Given the description of an element on the screen output the (x, y) to click on. 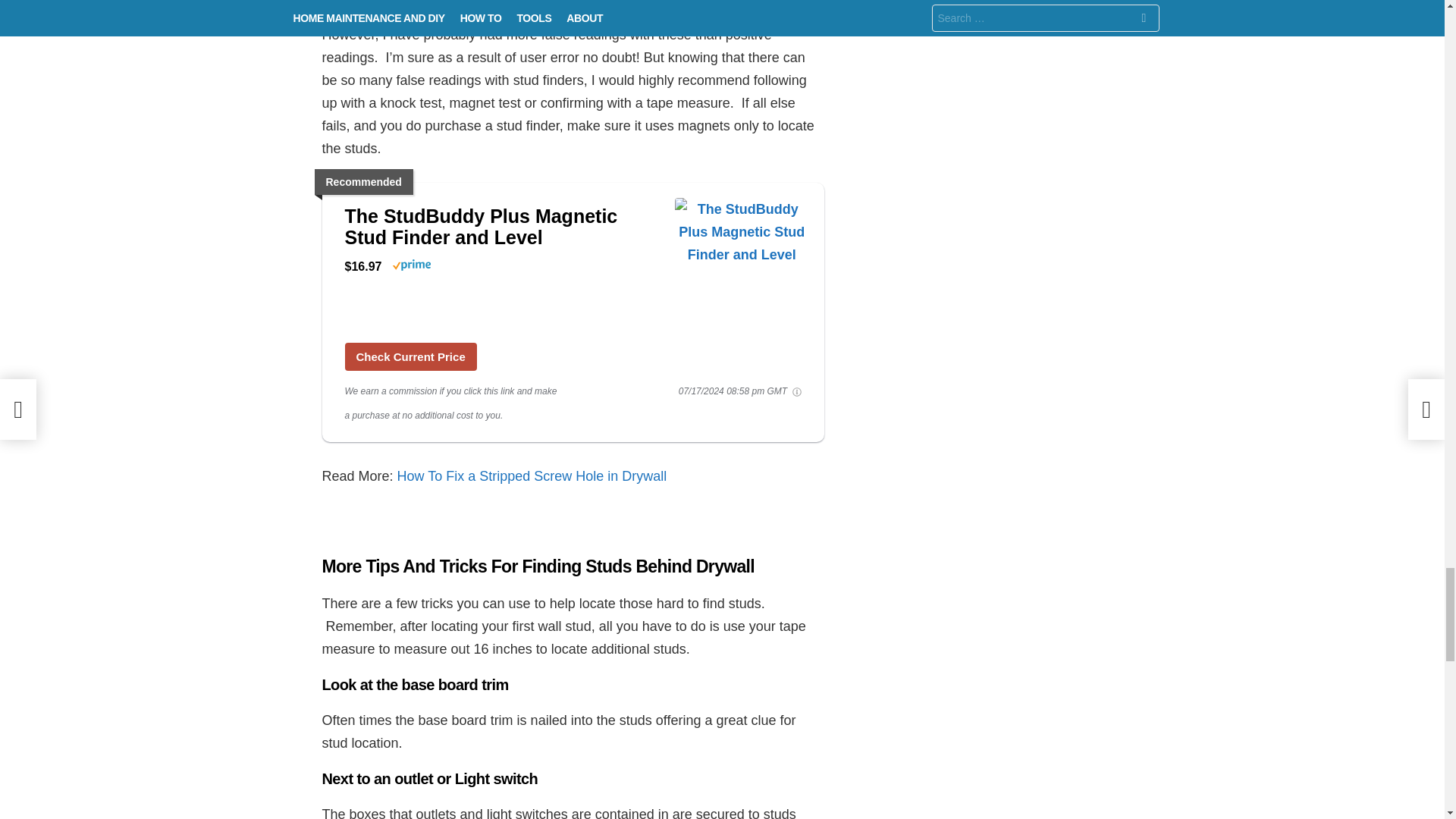
How To Fix a Stripped Screw Hole in Drywall (529, 476)
Check Current Price (409, 357)
The StudBuddy Plus Magnetic Stud Finder and Level (501, 226)
The StudBuddy Plus Magnetic Stud Finder and Level (501, 226)
The StudBuddy Plus Magnetic Stud Finder and Level (742, 258)
The StudBuddy Plus Magnetic Stud Finder and Level (409, 357)
